Given the description of an element on the screen output the (x, y) to click on. 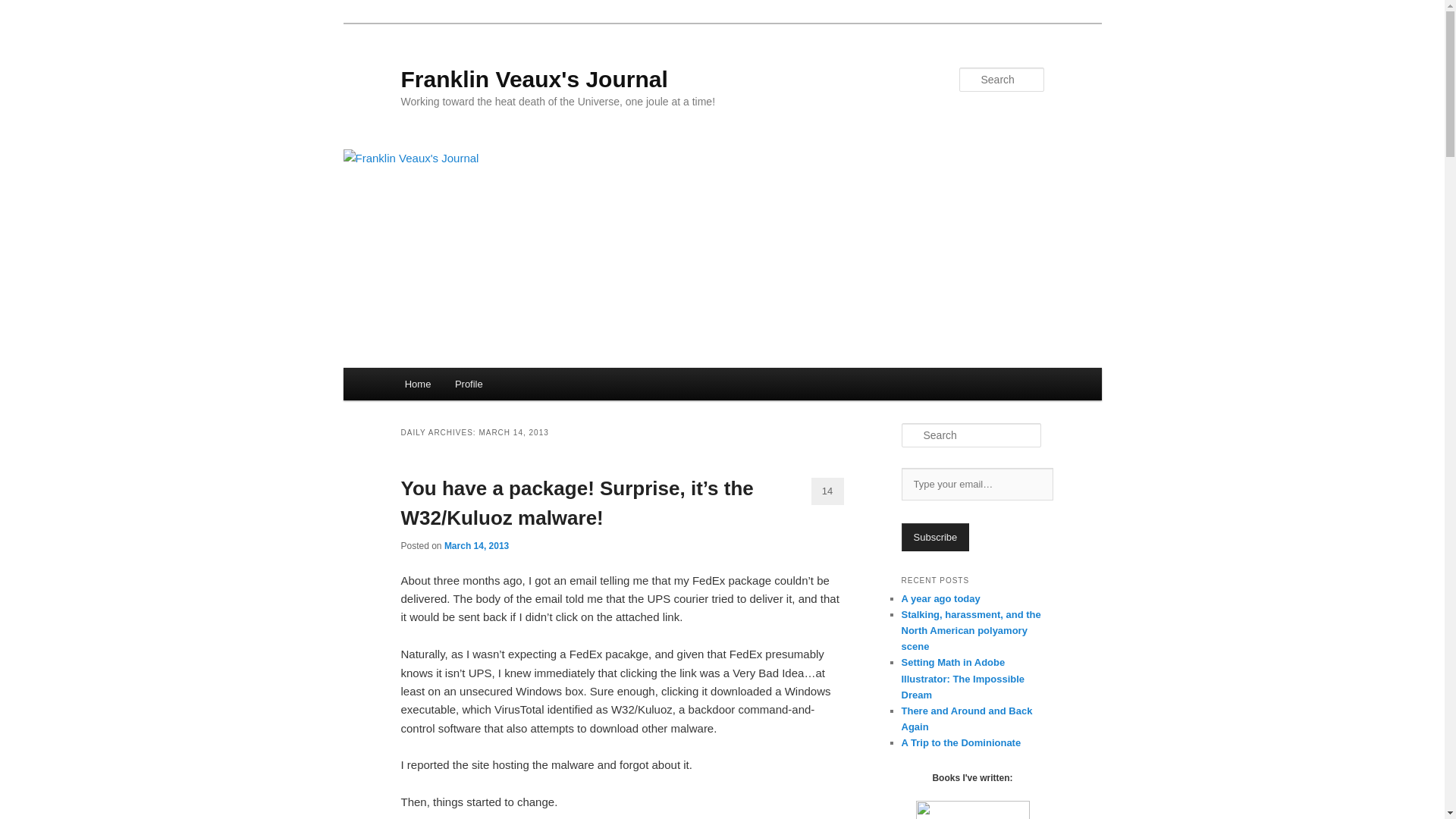
Search (21, 11)
A Trip to the Dominionate (960, 742)
Profile (468, 383)
Search (24, 8)
March 14, 2013 (476, 545)
4:02 pm (476, 545)
14 (827, 491)
Subscribe (935, 537)
Franklin Veaux's Journal (533, 78)
